Given the description of an element on the screen output the (x, y) to click on. 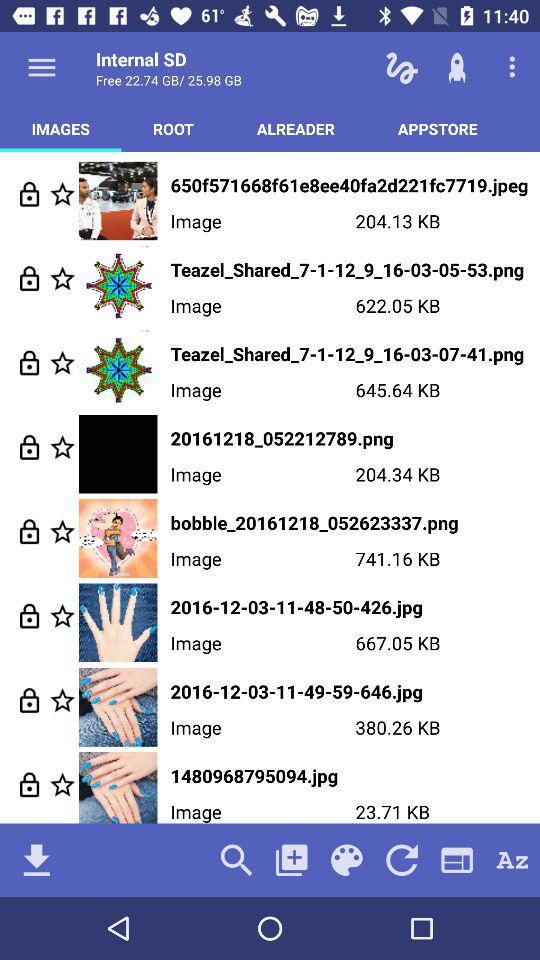
open the options menu (42, 67)
